Given the description of an element on the screen output the (x, y) to click on. 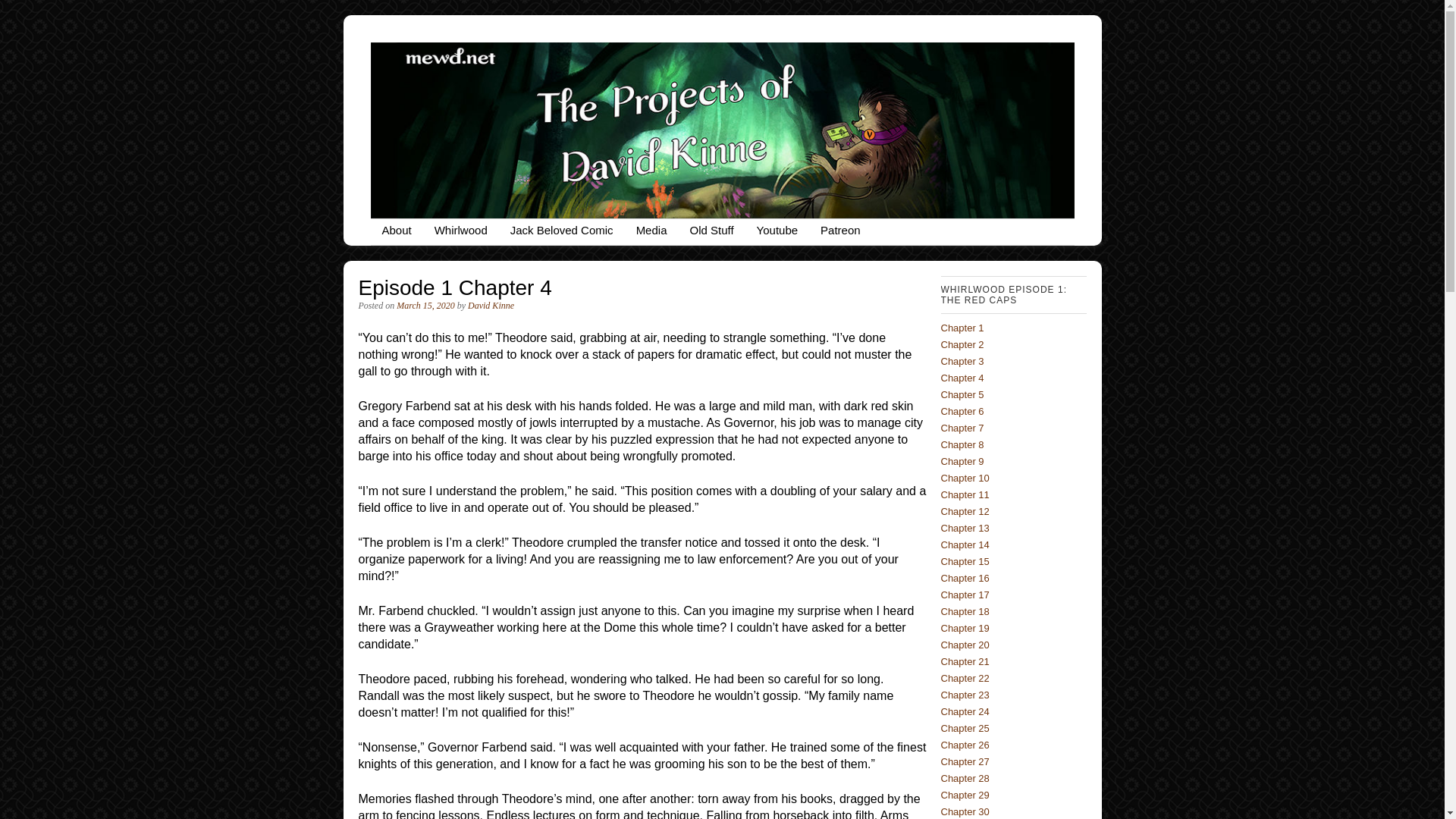
About (395, 231)
Jack Beloved Comic (561, 231)
11:09 pm (425, 305)
Chapter 4 (962, 378)
Patreon (840, 231)
Chapter 2 (962, 344)
Chapter 13 (964, 527)
Whirlwood (461, 231)
Chapter 11 (964, 494)
Chapter 9 (962, 460)
Youtube (777, 231)
Chapter 1 (962, 327)
Chapter 12 (964, 511)
Skip to content (418, 231)
Chapter 16 (964, 577)
